Given the description of an element on the screen output the (x, y) to click on. 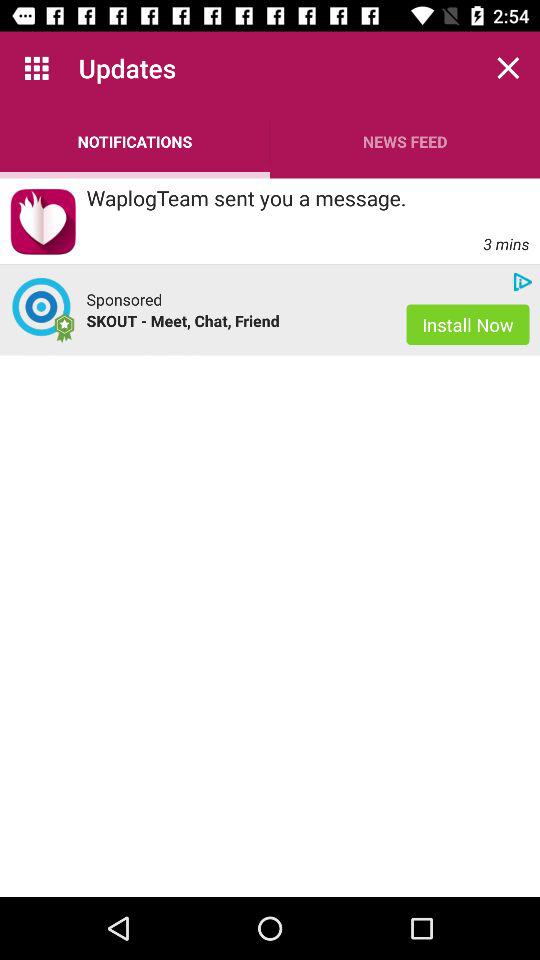
click the skout meet chat app (235, 320)
